Given the description of an element on the screen output the (x, y) to click on. 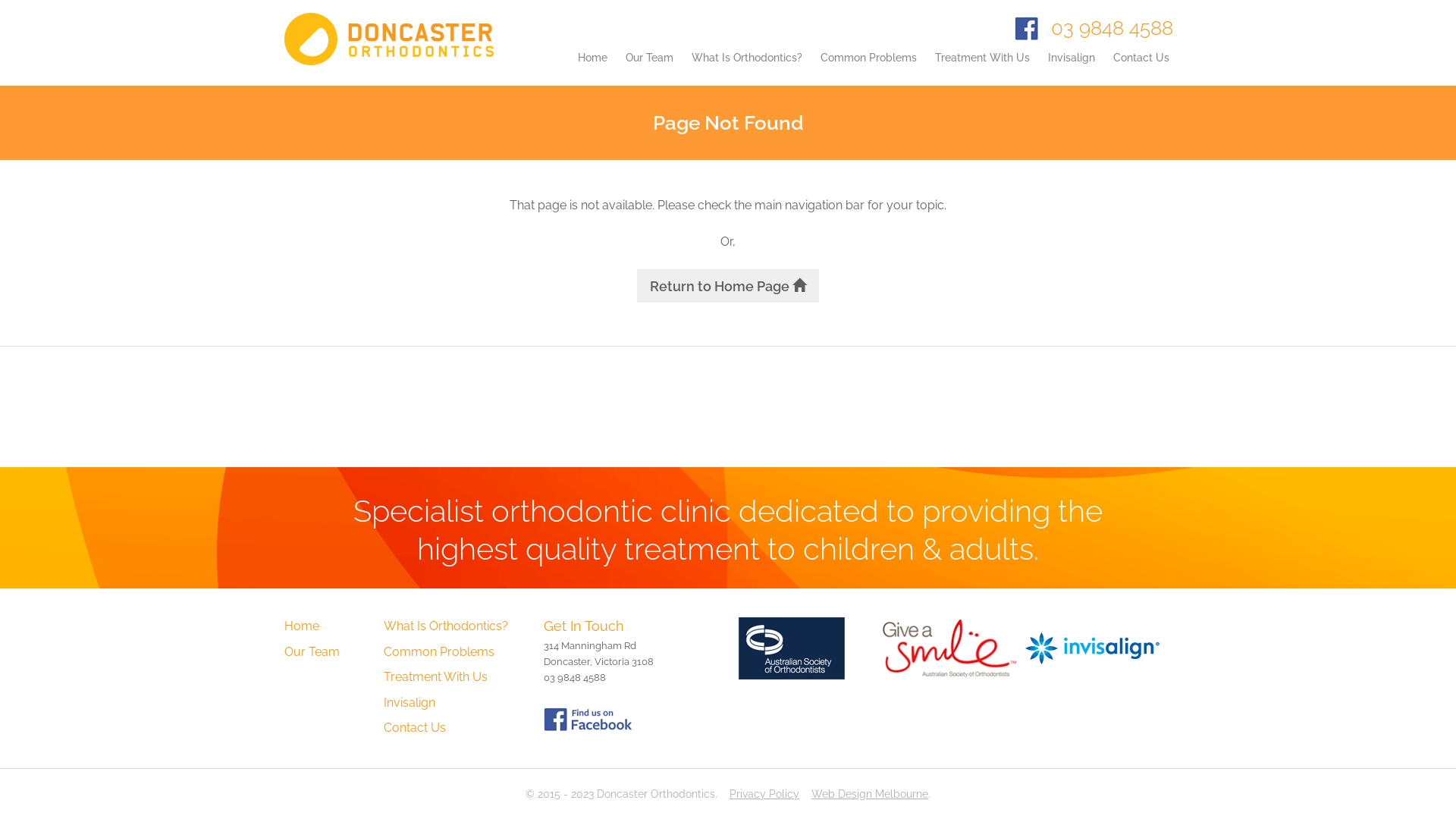
Our Team Element type: text (311, 651)
What Is Orthodontics? Element type: text (445, 625)
Common Problems Element type: text (438, 651)
Find us on Facebook Element type: text (587, 719)
03 9848 4588 Element type: text (1112, 27)
Contact Us Element type: text (1140, 68)
Common Problems Element type: text (868, 68)
Invisalign Element type: text (1071, 68)
Treatment With Us Element type: text (982, 68)
Treatment With Us Element type: text (435, 676)
Privacy Policy Element type: text (764, 793)
Home Element type: text (301, 625)
What Is Orthodontics? Element type: text (746, 68)
Contact Us Element type: text (414, 727)
Invisalign Element type: text (409, 702)
Home Element type: text (592, 68)
03 9848 4588 Element type: text (574, 677)
Web Design Melbourne Element type: text (869, 793)
Our Team Element type: text (649, 68)
Return to Home Page Element type: text (728, 285)
